Given the description of an element on the screen output the (x, y) to click on. 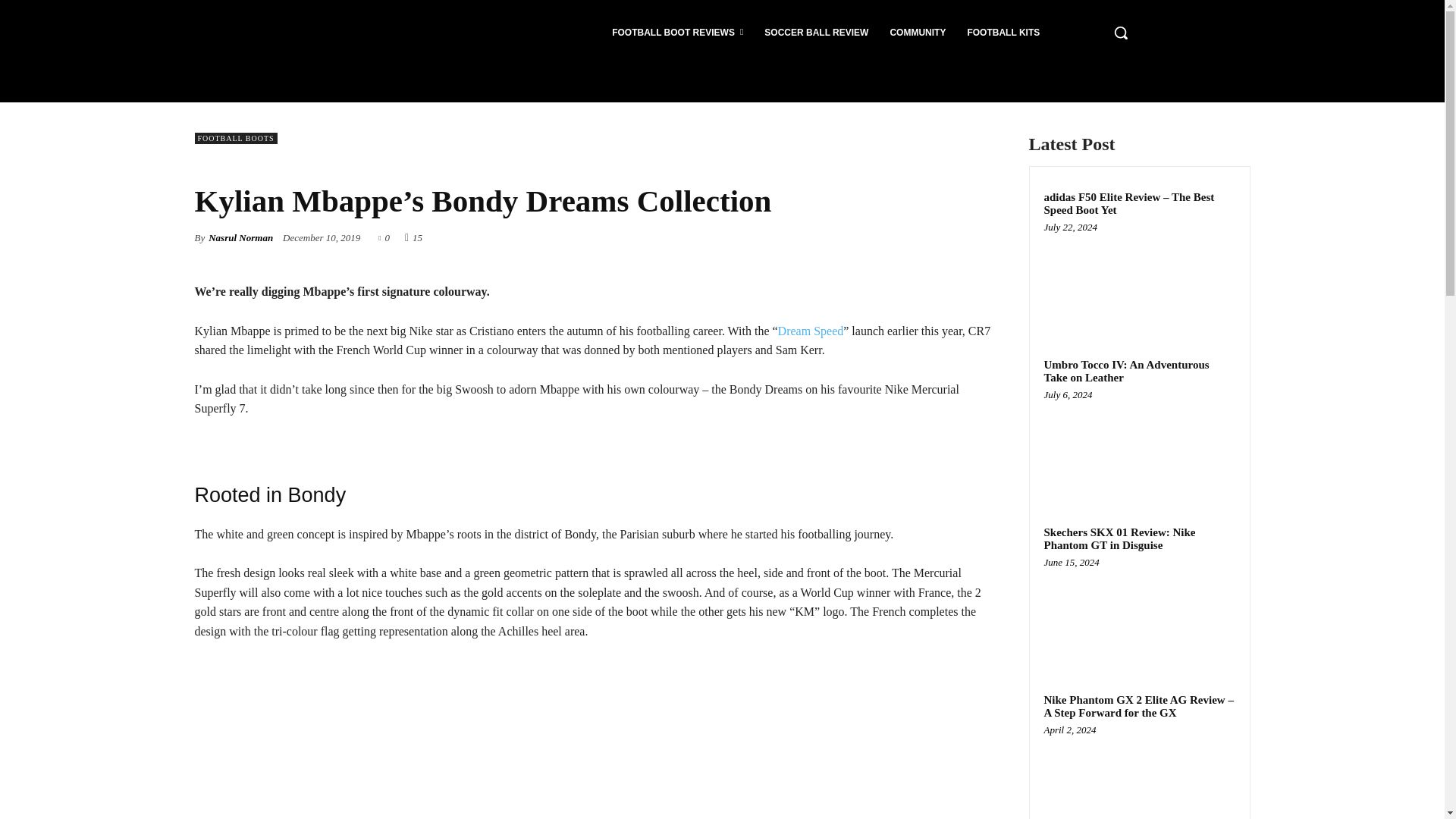
COMMUNITY (917, 31)
FOOTBALL KITS (1002, 31)
FOOTBALL BOOT REVIEWS (677, 31)
SOCCER BALL REVIEW (816, 31)
Dream Speed (810, 330)
Skechers SKX 01 Review: Nike Phantom GT in Disguise (1138, 612)
FOOTBALL BOOTS (234, 138)
0 (384, 236)
Nasrul Norman (240, 237)
Umbro Tocco IV: An Adventurous Take on Leather (1125, 371)
